Given the description of an element on the screen output the (x, y) to click on. 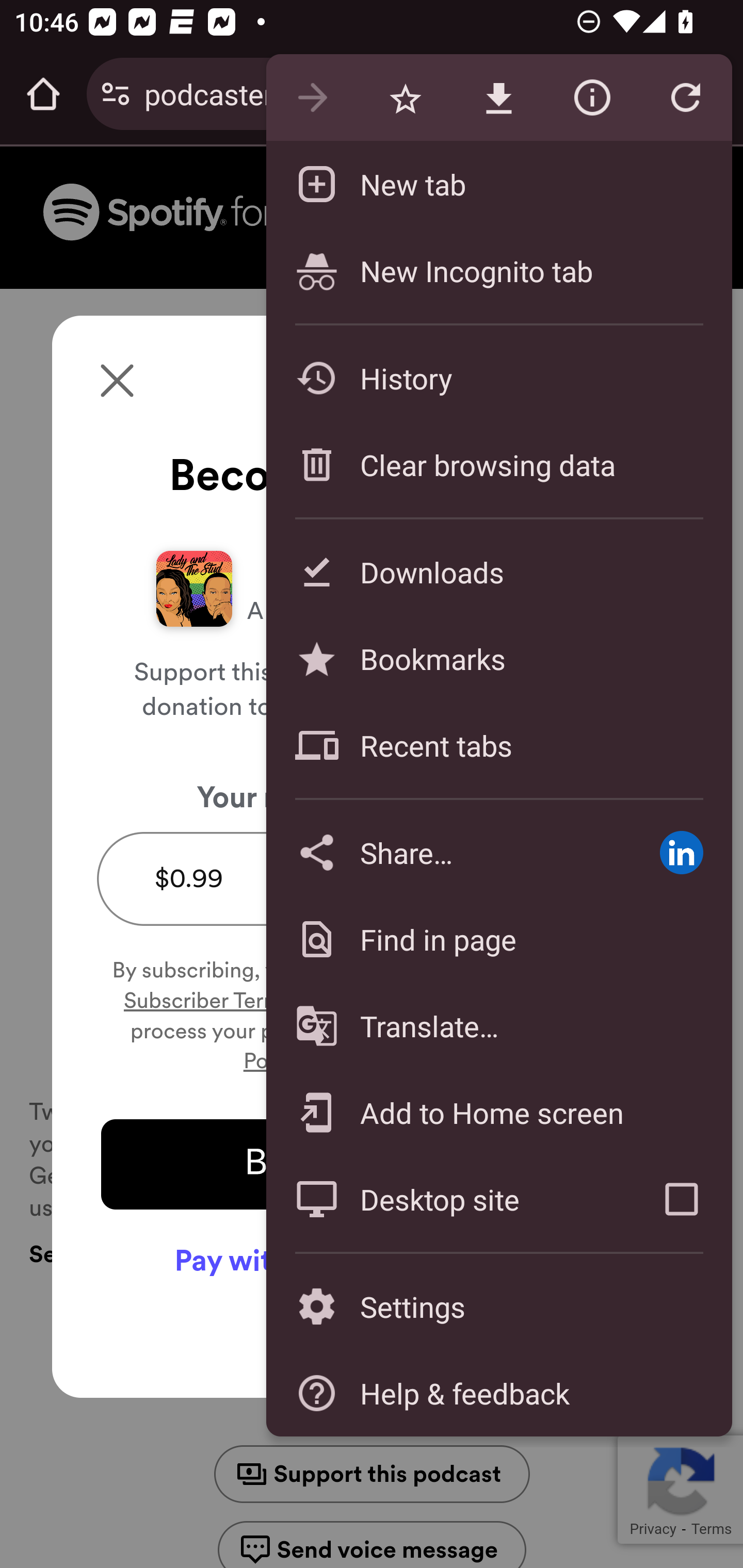
Forward (311, 97)
Bookmark (404, 97)
Download (498, 97)
Page info (591, 97)
Stop refreshing (684, 97)
New tab (498, 184)
New Incognito tab (498, 270)
History (498, 377)
Clear browsing data (498, 464)
Downloads (498, 571)
Bookmarks (498, 658)
Recent tabs (498, 745)
Share… (447, 852)
Share via Share in a post (680, 852)
Find in page (498, 939)
Translate… (498, 1026)
Add to Home screen (498, 1112)
Desktop site Turn on Request desktop site (447, 1198)
Settings (498, 1306)
Help & feedback (498, 1393)
